Given the description of an element on the screen output the (x, y) to click on. 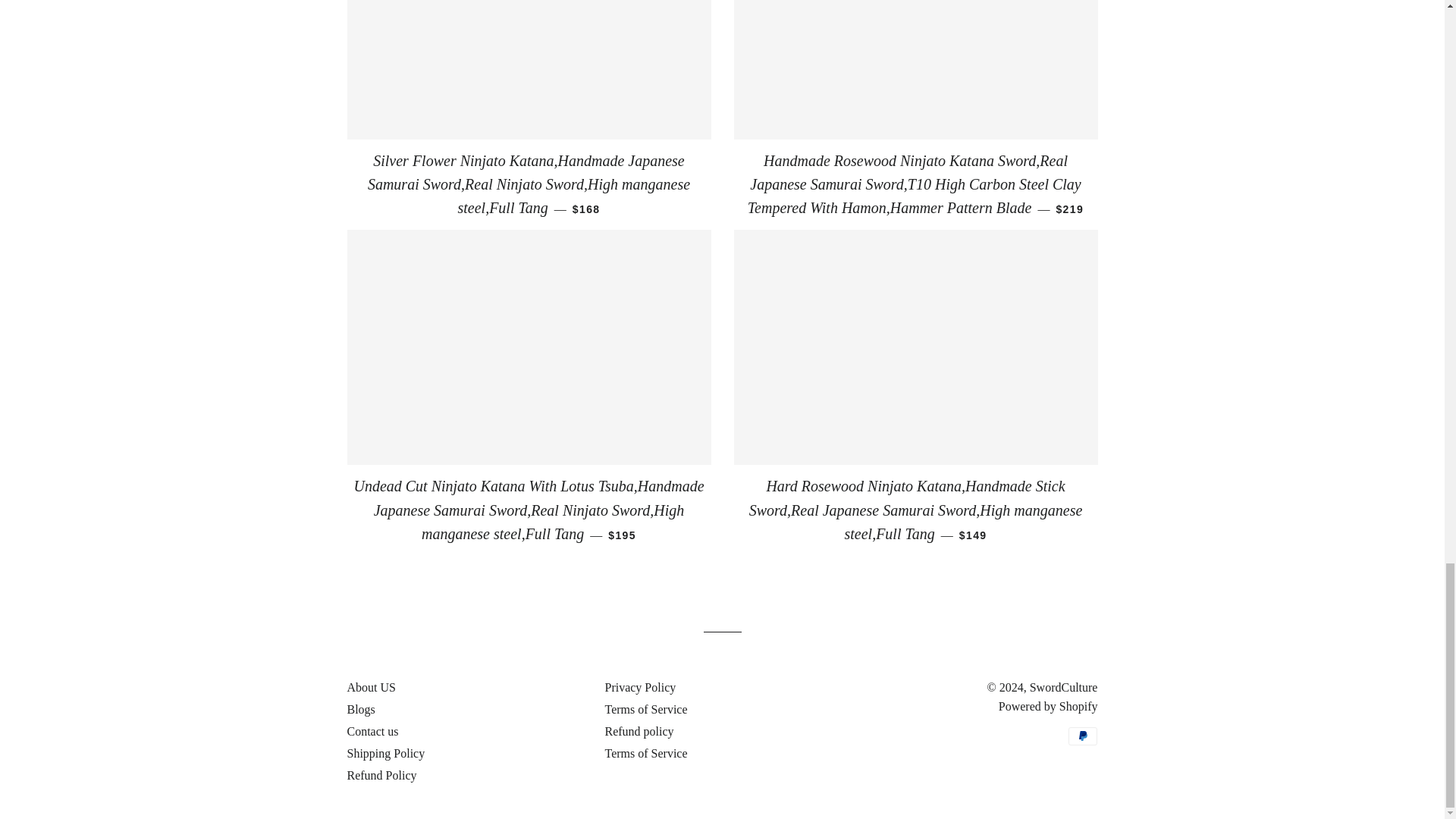
PayPal (1082, 736)
